Given the description of an element on the screen output the (x, y) to click on. 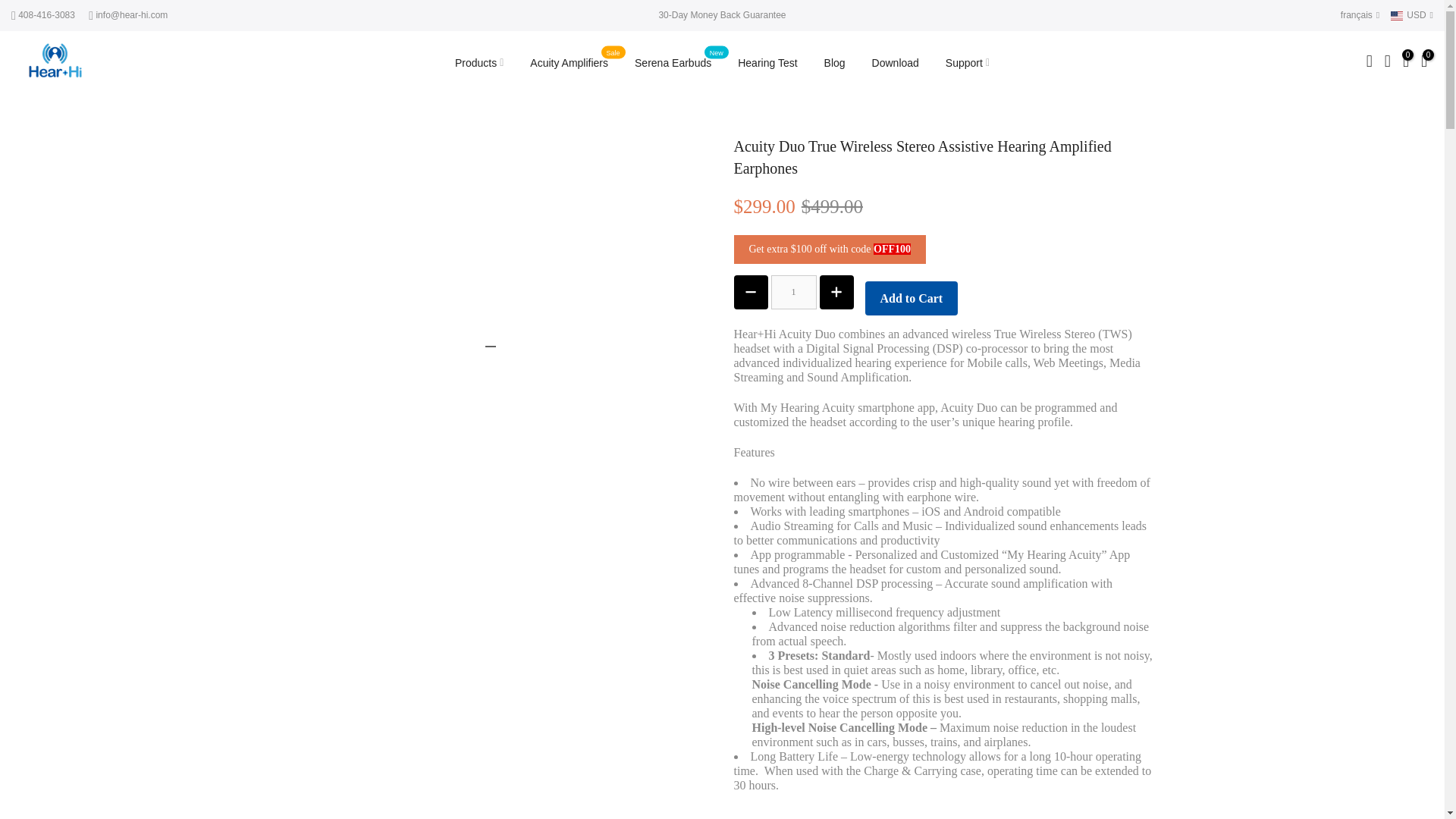
Support (967, 62)
408-416-3083 (45, 14)
Products (478, 62)
Download (895, 62)
Hearing Test (767, 62)
Blog (834, 62)
0 (1405, 62)
Add to Cart (911, 298)
1 (792, 292)
